Given the description of an element on the screen output the (x, y) to click on. 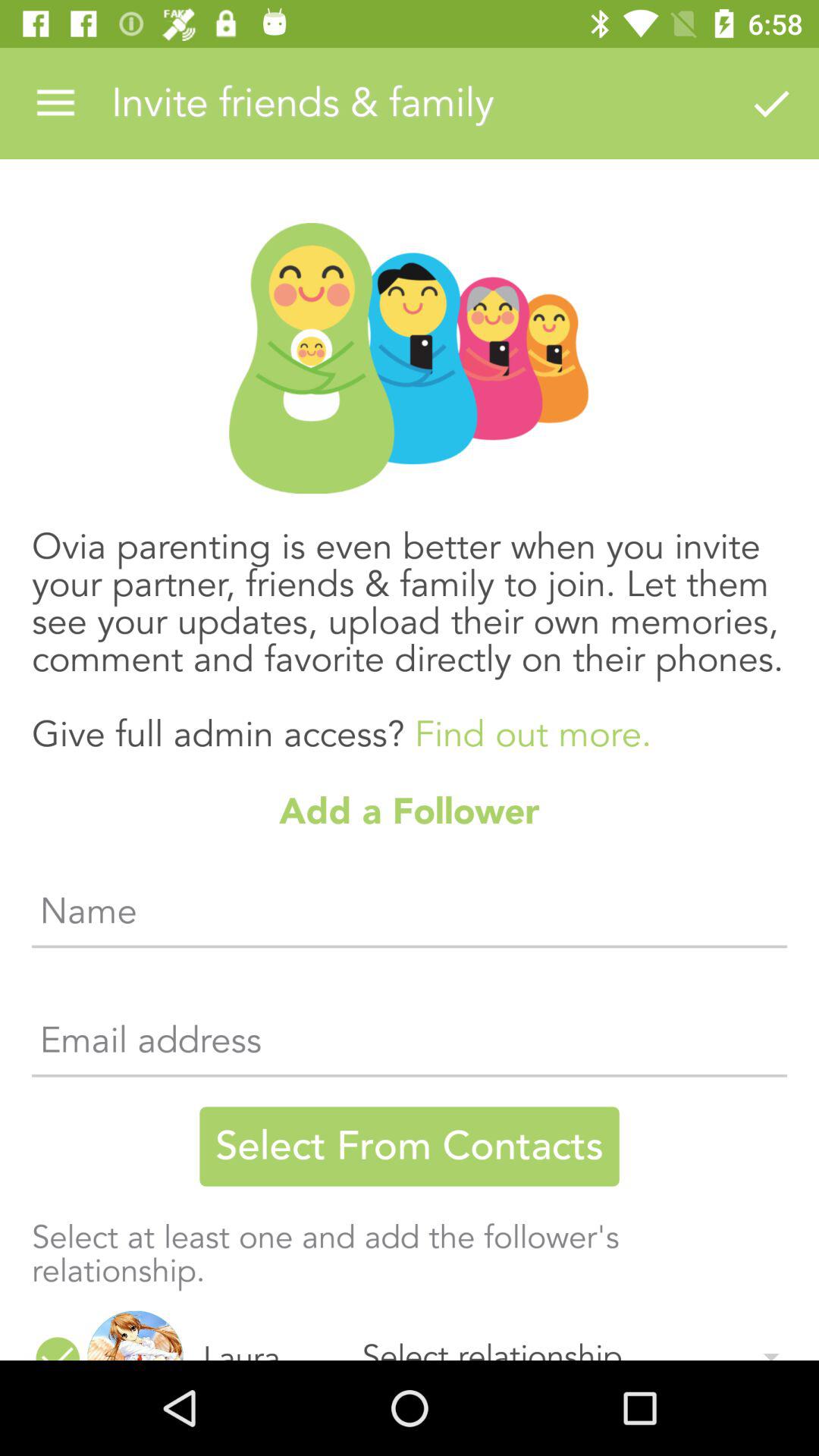
select item above the ovia parenting is icon (55, 103)
